Given the description of an element on the screen output the (x, y) to click on. 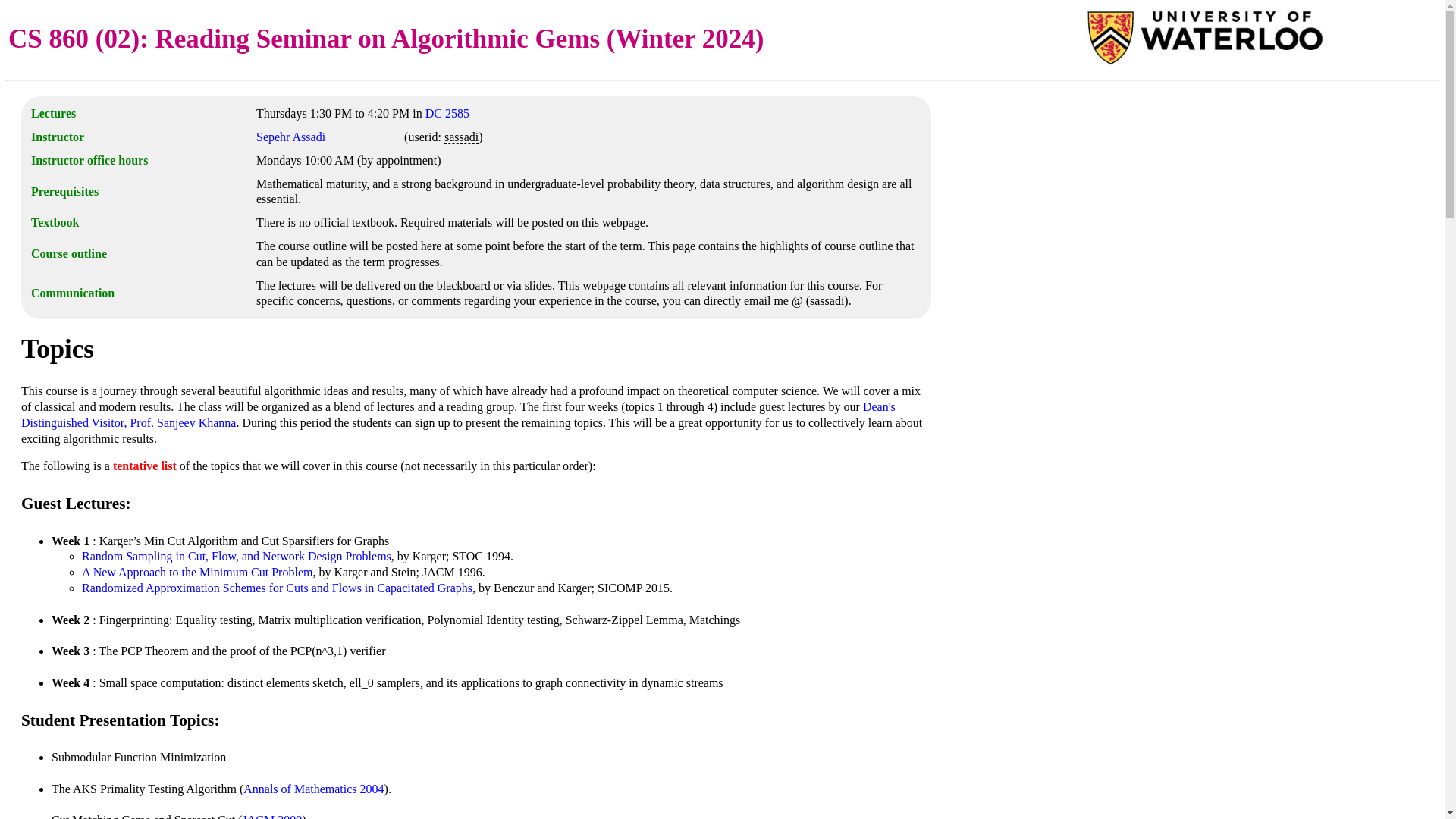
DC 2585 (446, 113)
JACM 2009 (272, 816)
A New Approach to the Minimum Cut Problem (197, 571)
Dean's Distinguished Visitor, Prof. Sanjeev Khanna (458, 414)
Annals of Mathematics 2004 (313, 788)
Sepehr Assadi (290, 136)
Random Sampling in Cut, Flow, and Network Design Problems (236, 555)
